Given the description of an element on the screen output the (x, y) to click on. 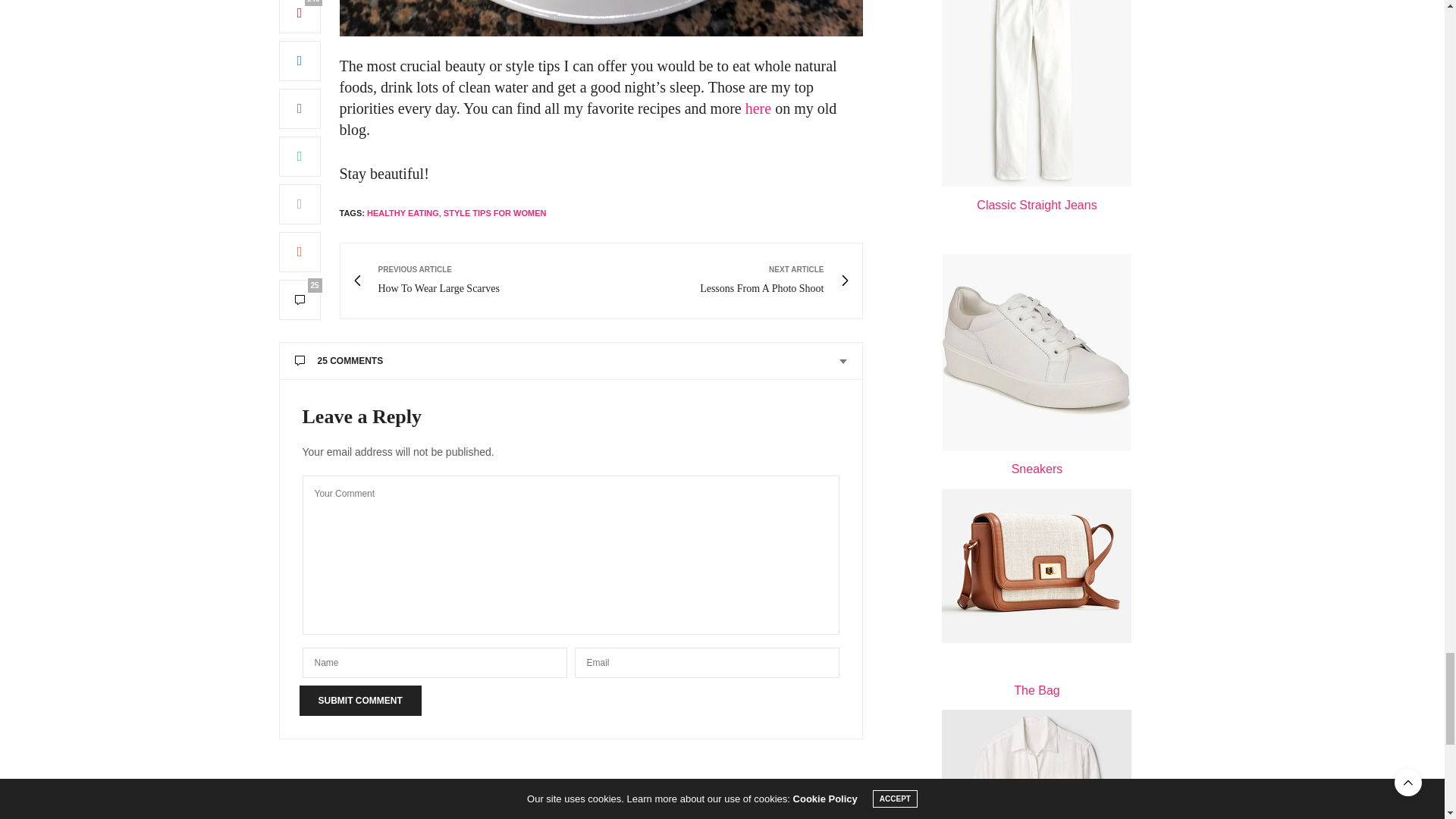
Submit Comment (359, 700)
